Given the description of an element on the screen output the (x, y) to click on. 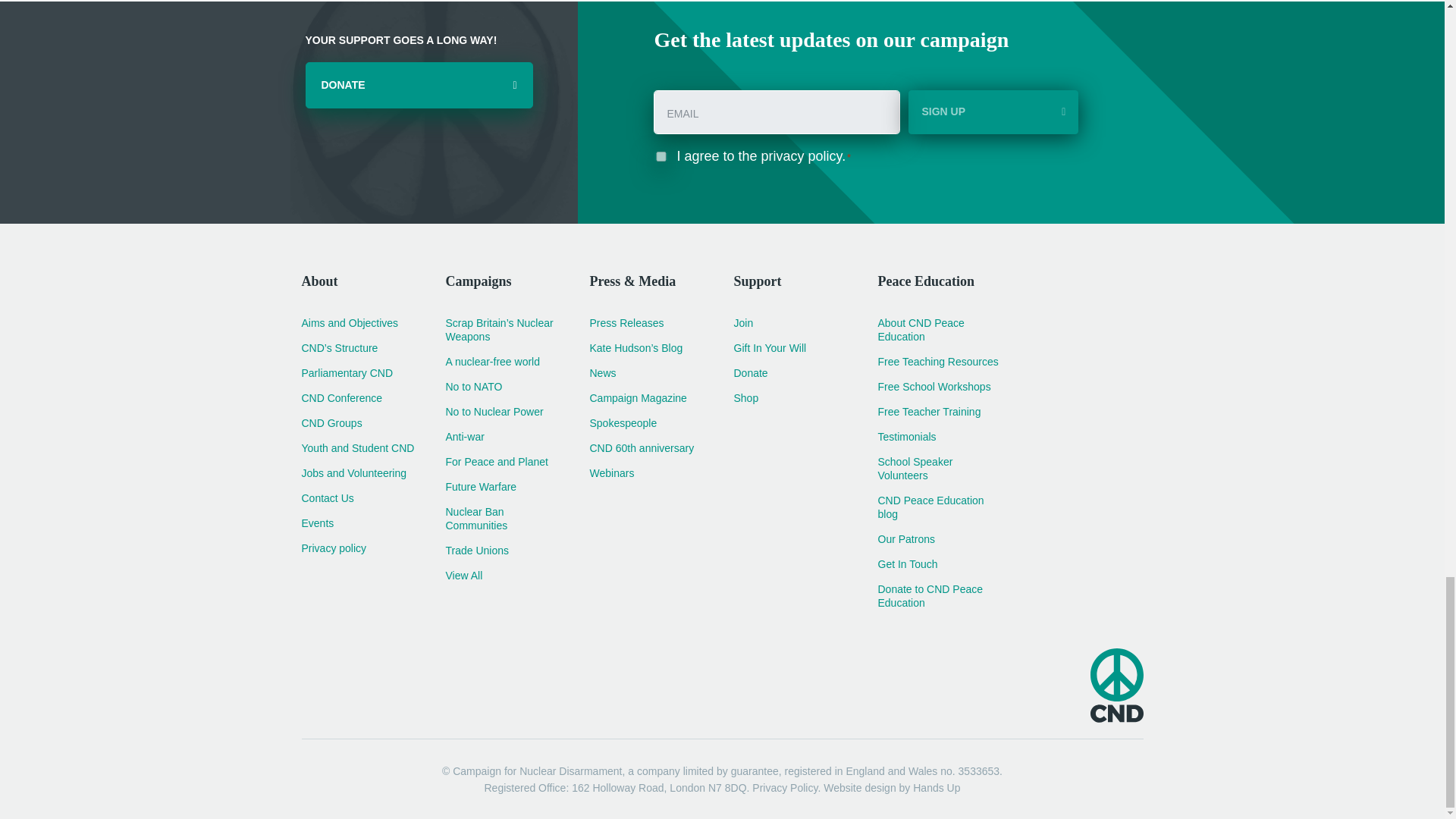
1 (660, 156)
